Given the description of an element on the screen output the (x, y) to click on. 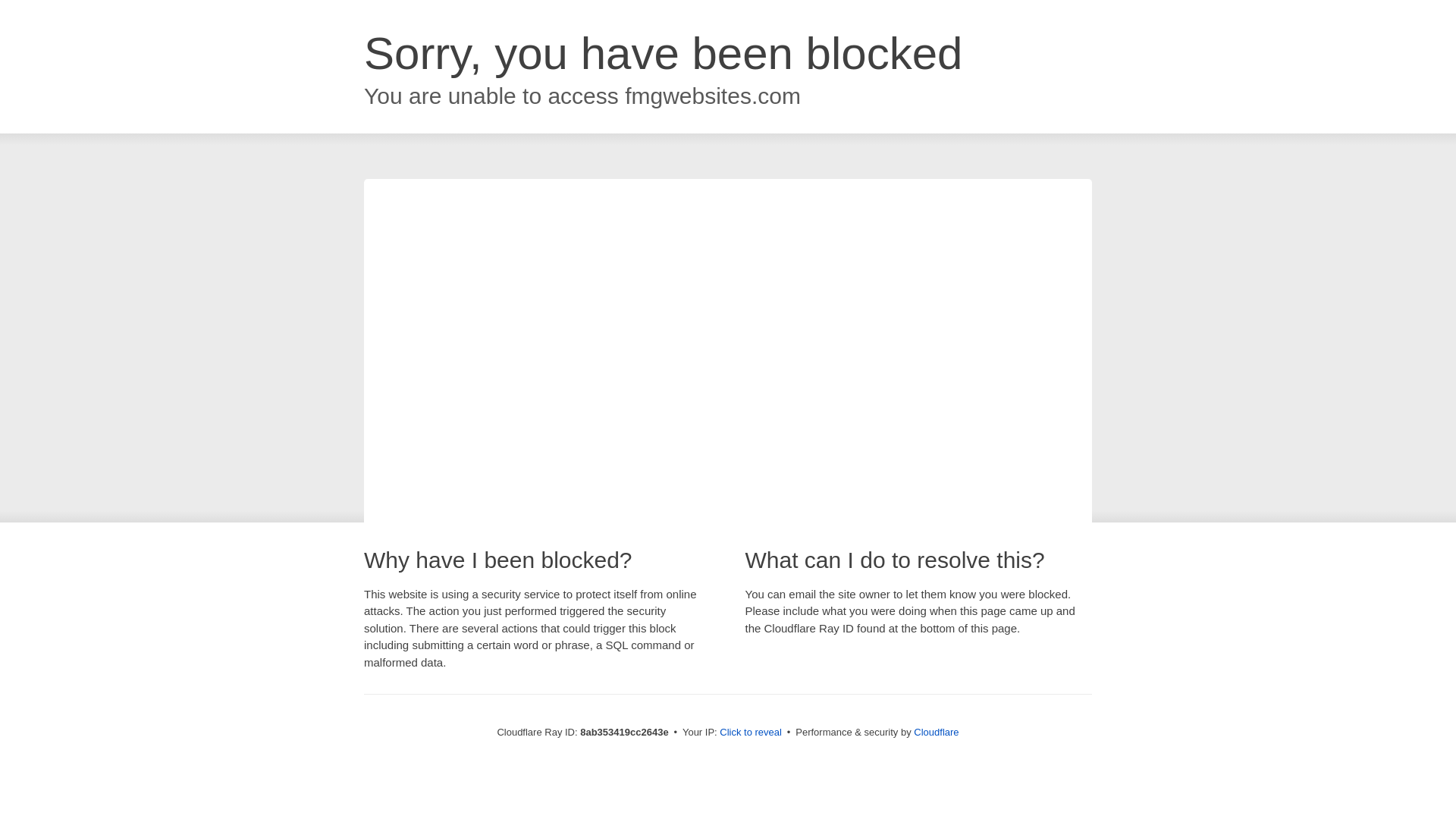
Cloudflare (936, 731)
Click to reveal (750, 732)
